Given the description of an element on the screen output the (x, y) to click on. 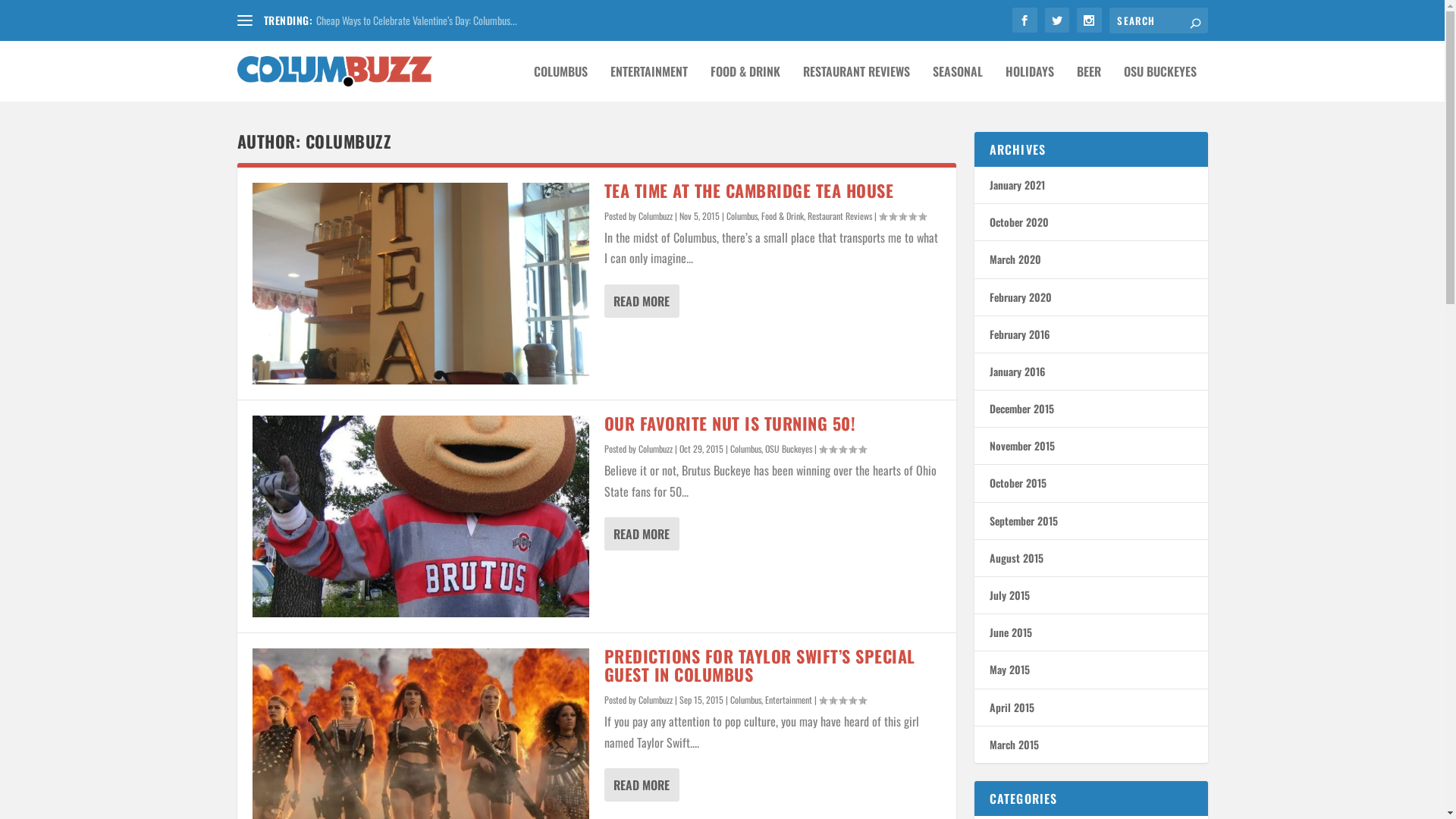
October 2015 Element type: text (1016, 482)
ENTERTAINMENT Element type: text (648, 83)
Columbuzz Element type: text (655, 215)
SEASONAL Element type: text (957, 83)
BEER Element type: text (1088, 83)
Rating: 0.00 Element type: hover (901, 215)
Tea Time at the Cambridge Tea House Element type: hover (419, 283)
Our Favorite Nut is Turning 50! Element type: hover (419, 516)
February 2020 Element type: text (1019, 296)
Entertainment Element type: text (787, 699)
November 2015 Element type: text (1021, 445)
RESTAURANT REVIEWS Element type: text (855, 83)
January 2021 Element type: text (1016, 184)
OSU BUCKEYES Element type: text (1159, 83)
Food & Drink Element type: text (782, 215)
TEA TIME AT THE CAMBRIDGE TEA HOUSE Element type: text (748, 190)
March 2015 Element type: text (1013, 744)
Columbus Element type: text (744, 448)
COLUMBUS Element type: text (560, 83)
Columbuzz Element type: text (655, 699)
March 2020 Element type: text (1014, 258)
OUR FAVORITE NUT IS TURNING 50! Element type: text (729, 423)
Restaurant Reviews Element type: text (838, 215)
HOLIDAYS Element type: text (1029, 83)
Rating: 0.00 Element type: hover (842, 699)
Columbuzz Element type: text (655, 448)
OSU Buckeyes Element type: text (787, 448)
April 2015 Element type: text (1010, 707)
READ MORE Element type: text (640, 300)
May 2015 Element type: text (1008, 669)
June 2015 Element type: text (1009, 632)
Search for: Element type: hover (1157, 20)
Rating: 0.00 Element type: hover (842, 448)
January 2016 Element type: text (1016, 371)
Columbus Element type: text (744, 699)
Columbus Element type: text (741, 215)
September 2015 Element type: text (1022, 520)
FOOD & DRINK Element type: text (744, 83)
December 2015 Element type: text (1020, 408)
February 2016 Element type: text (1018, 334)
August 2015 Element type: text (1015, 557)
READ MORE Element type: text (640, 533)
July 2015 Element type: text (1008, 594)
READ MORE Element type: text (640, 784)
October 2020 Element type: text (1018, 221)
